Given the description of an element on the screen output the (x, y) to click on. 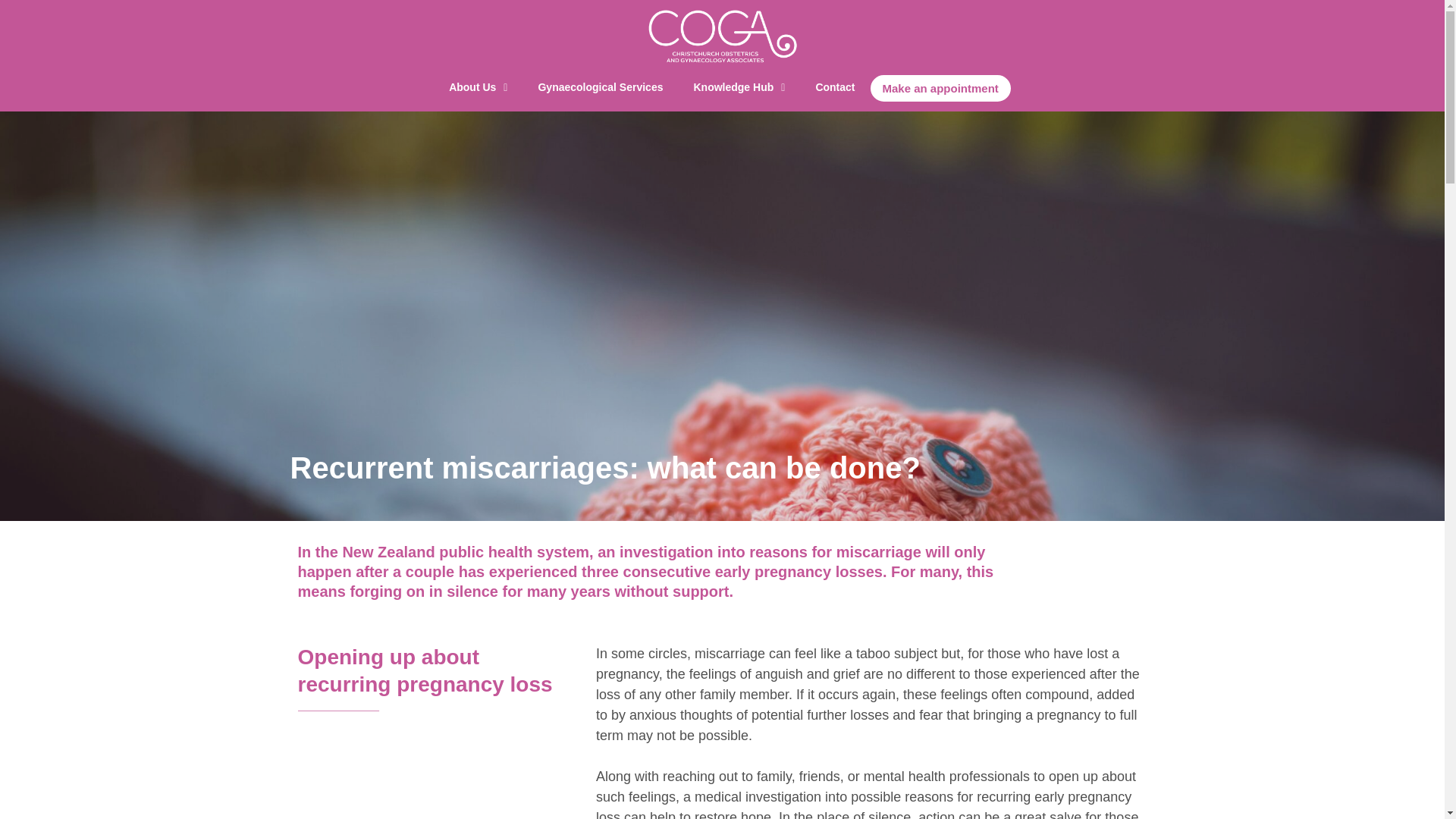
About Us (477, 87)
Knowledge Hub (738, 87)
Contact (834, 87)
Gynaecological Services (600, 87)
